Given the description of an element on the screen output the (x, y) to click on. 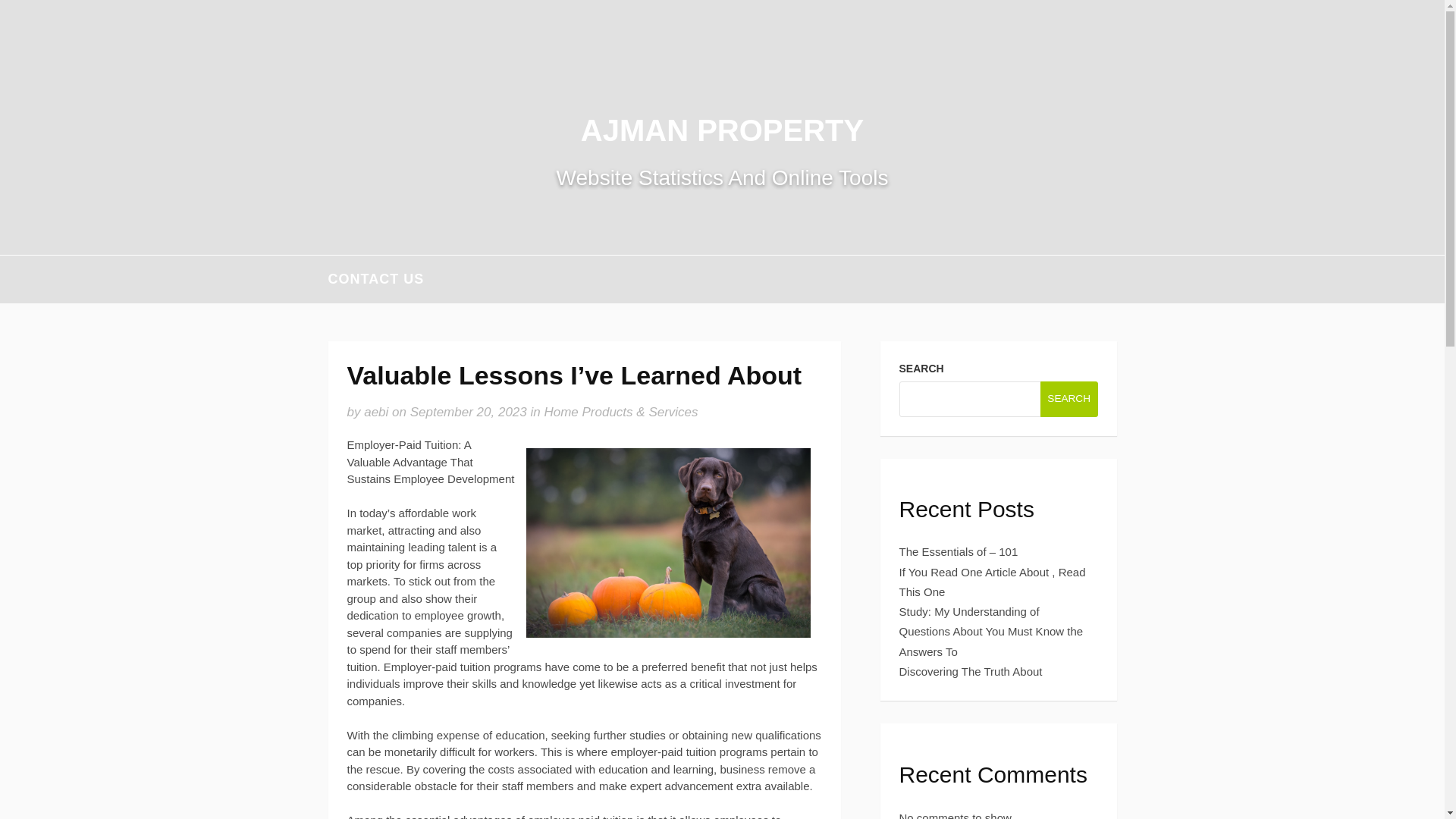
Discovering The Truth About (970, 671)
Study: My Understanding of (969, 611)
SEARCH (1069, 398)
September 20, 2023 (468, 411)
Questions About You Must Know the Answers To (991, 640)
AJMAN PROPERTY (721, 130)
CONTACT US (375, 279)
aebi (376, 411)
If You Read One Article About , Read This One (992, 581)
